Given the description of an element on the screen output the (x, y) to click on. 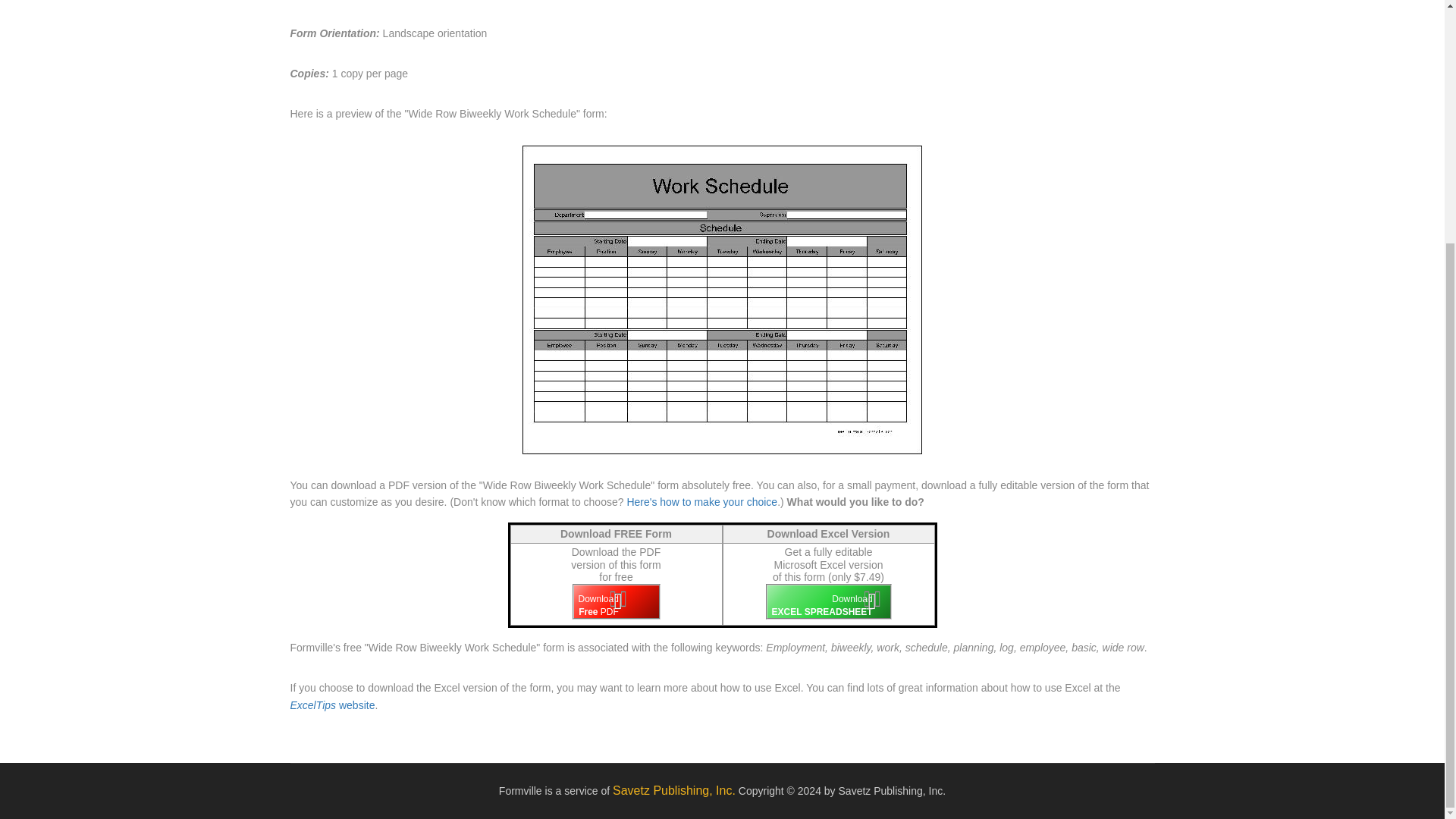
ExcelTips website (331, 705)
Savetz Publishing, Inc. (673, 791)
Here's how to make your choice (700, 501)
